Given the description of an element on the screen output the (x, y) to click on. 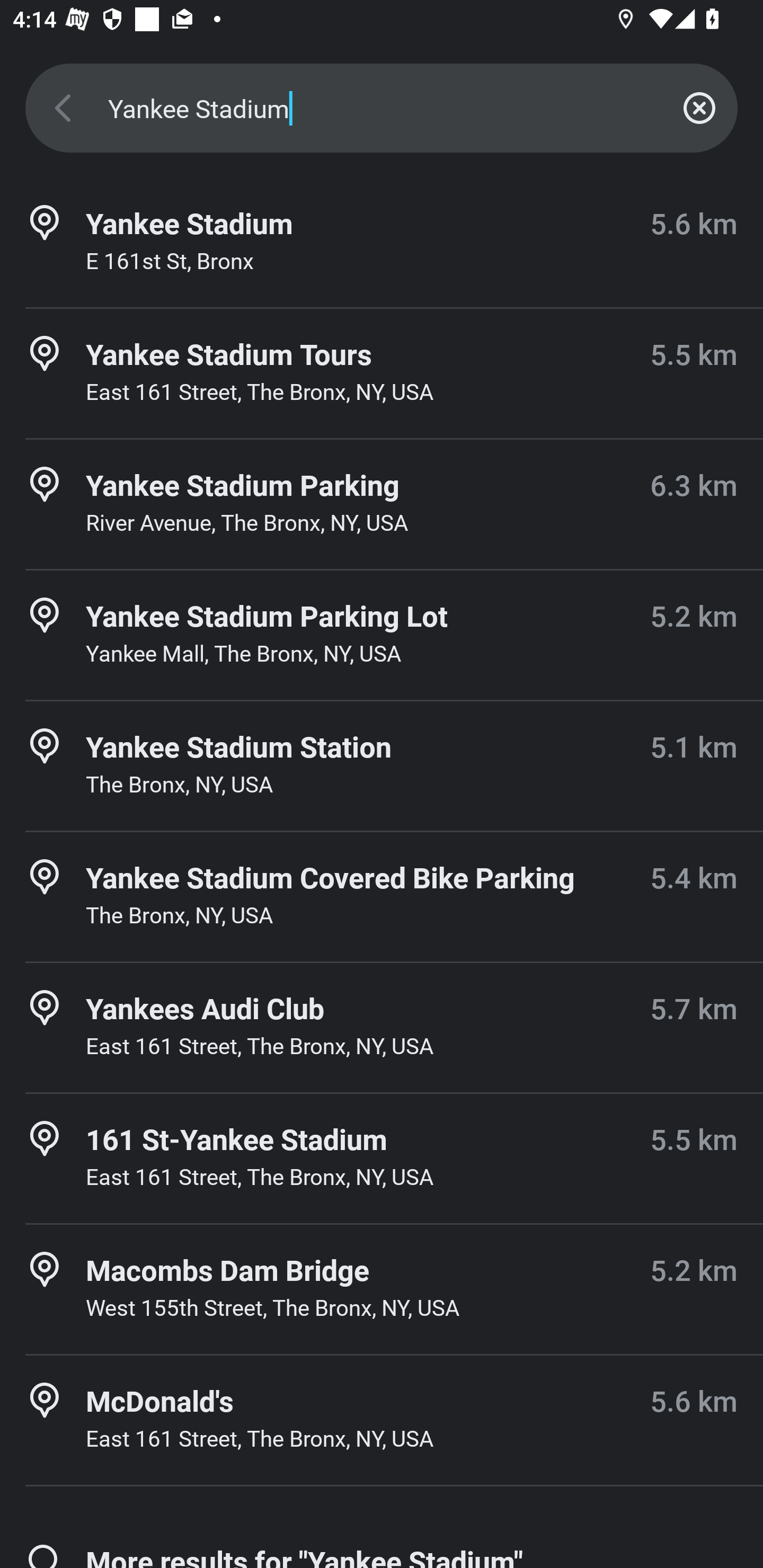
Yankee Stadium SEARCH_SCREEN_SEARCH_FIELD (381, 108)
Yankee Stadium 5.6 km E 161st St, Bronx (381, 242)
Yankee Stadium Station 5.1 km The Bronx, NY, USA (381, 765)
